Given the description of an element on the screen output the (x, y) to click on. 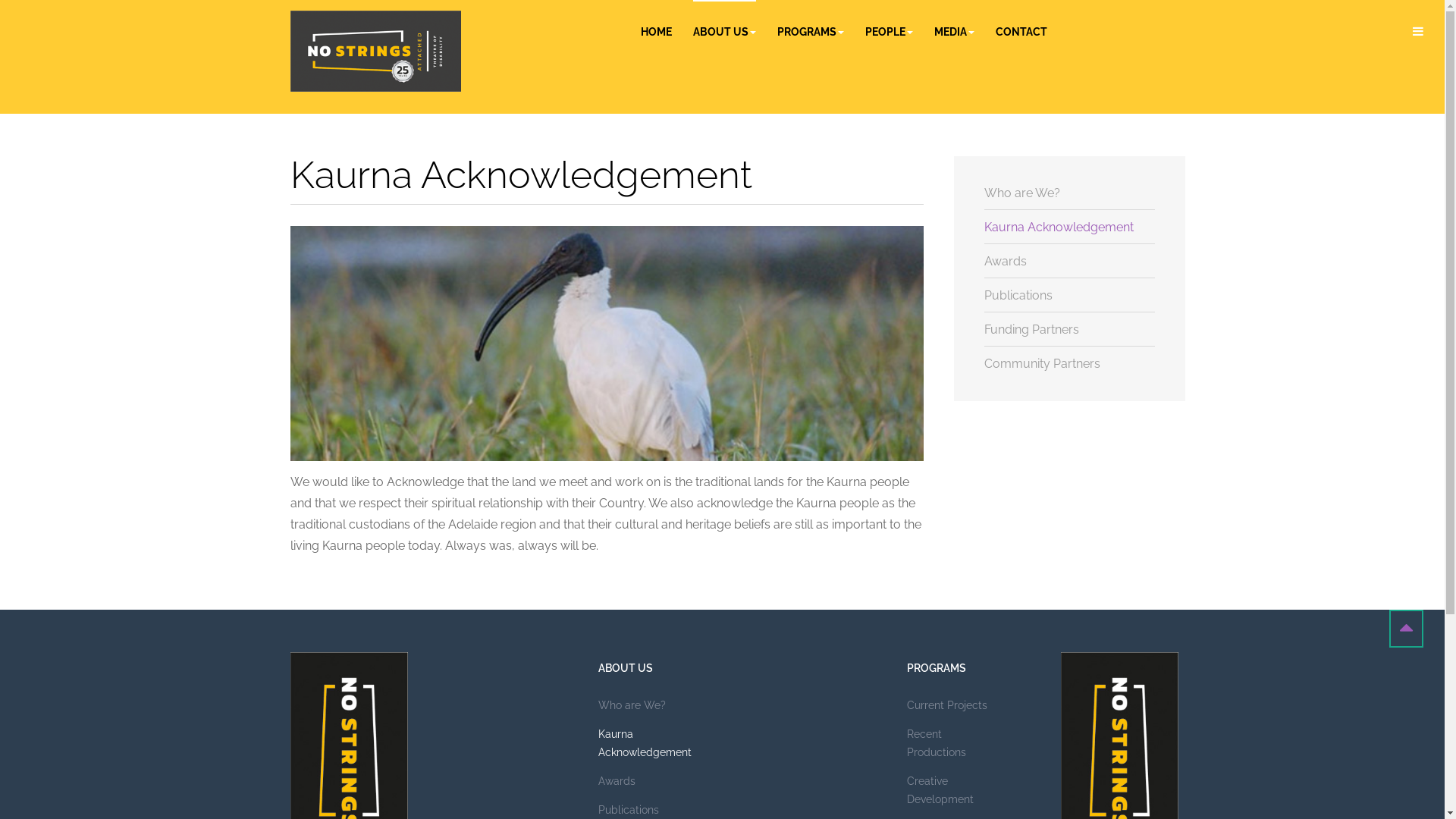
HOME Element type: text (655, 31)
Back to Top Element type: hover (1406, 628)
Kaurna Acknowledgement Element type: text (644, 747)
Community Partners Element type: text (1069, 363)
ABOUT US Element type: text (724, 31)
CONTACT Element type: text (1020, 31)
Kaurna Acknowledgement Element type: text (1069, 227)
PEOPLE Element type: text (888, 31)
Who are We? Element type: text (644, 710)
Awards Element type: text (1069, 261)
Recent Productions Element type: text (953, 747)
MEDIA Element type: text (954, 31)
Awards Element type: text (644, 785)
Who are We? Element type: text (1069, 193)
Current Projects Element type: text (953, 710)
PROGRAMS Element type: text (809, 31)
No Strings Attached Element type: hover (374, 50)
Publications Element type: text (1069, 295)
Funding Partners Element type: text (1069, 329)
